Given the description of an element on the screen output the (x, y) to click on. 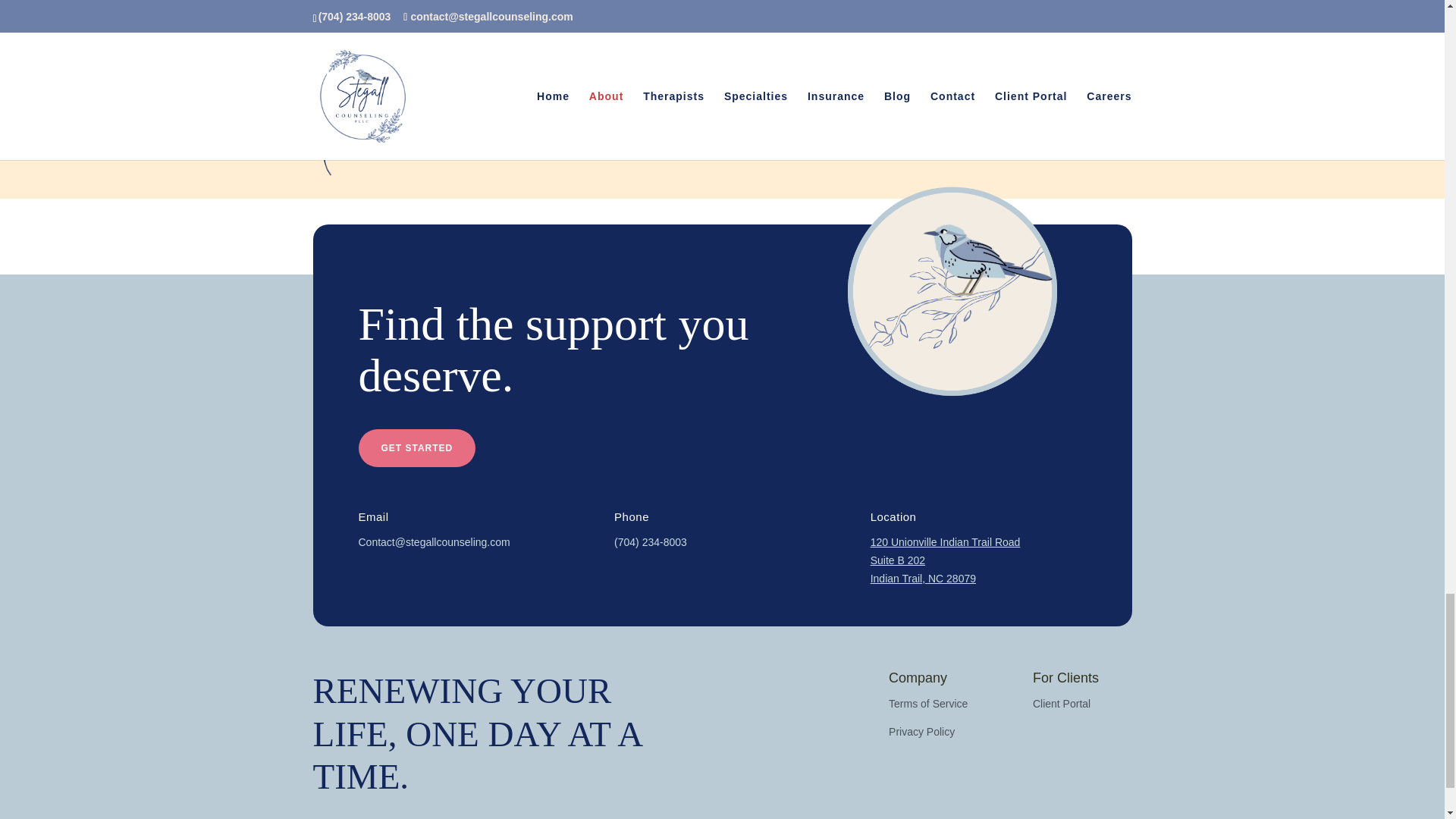
8 (357, 110)
120 Unionville Indian Trail Road (945, 541)
Stegall Counseling PLLC New Logo.pdf (952, 291)
Suite B 202 (897, 560)
Client Portal (1061, 703)
Privacy Policy (921, 731)
Indian Trail, NC 28079 (922, 578)
Terms of Service (928, 703)
GET STARTED (417, 447)
Form 0 (721, 28)
